Given the description of an element on the screen output the (x, y) to click on. 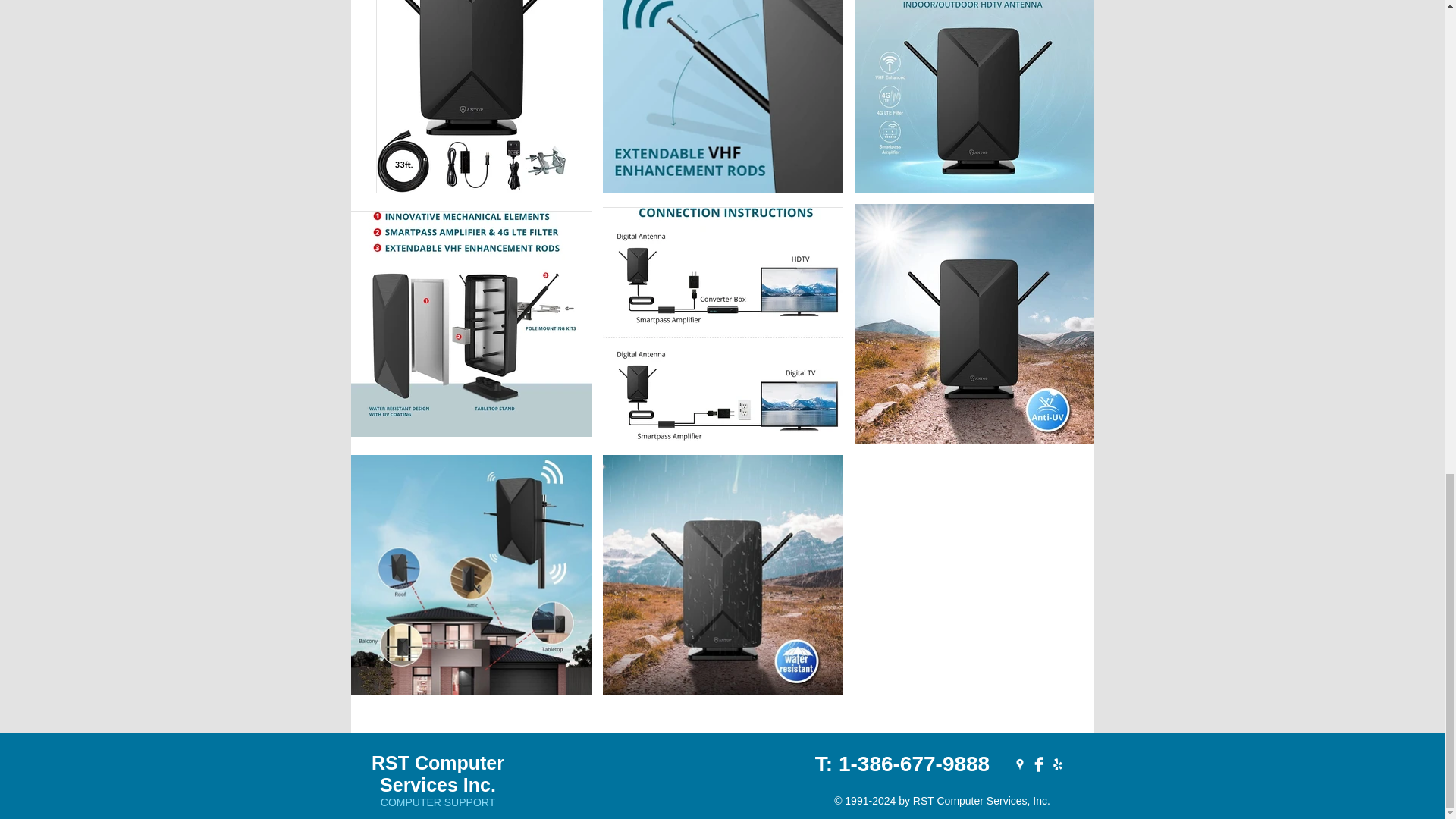
RST Computer Services Inc. (437, 773)
COMPUTER SUPPORT (437, 802)
